Given the description of an element on the screen output the (x, y) to click on. 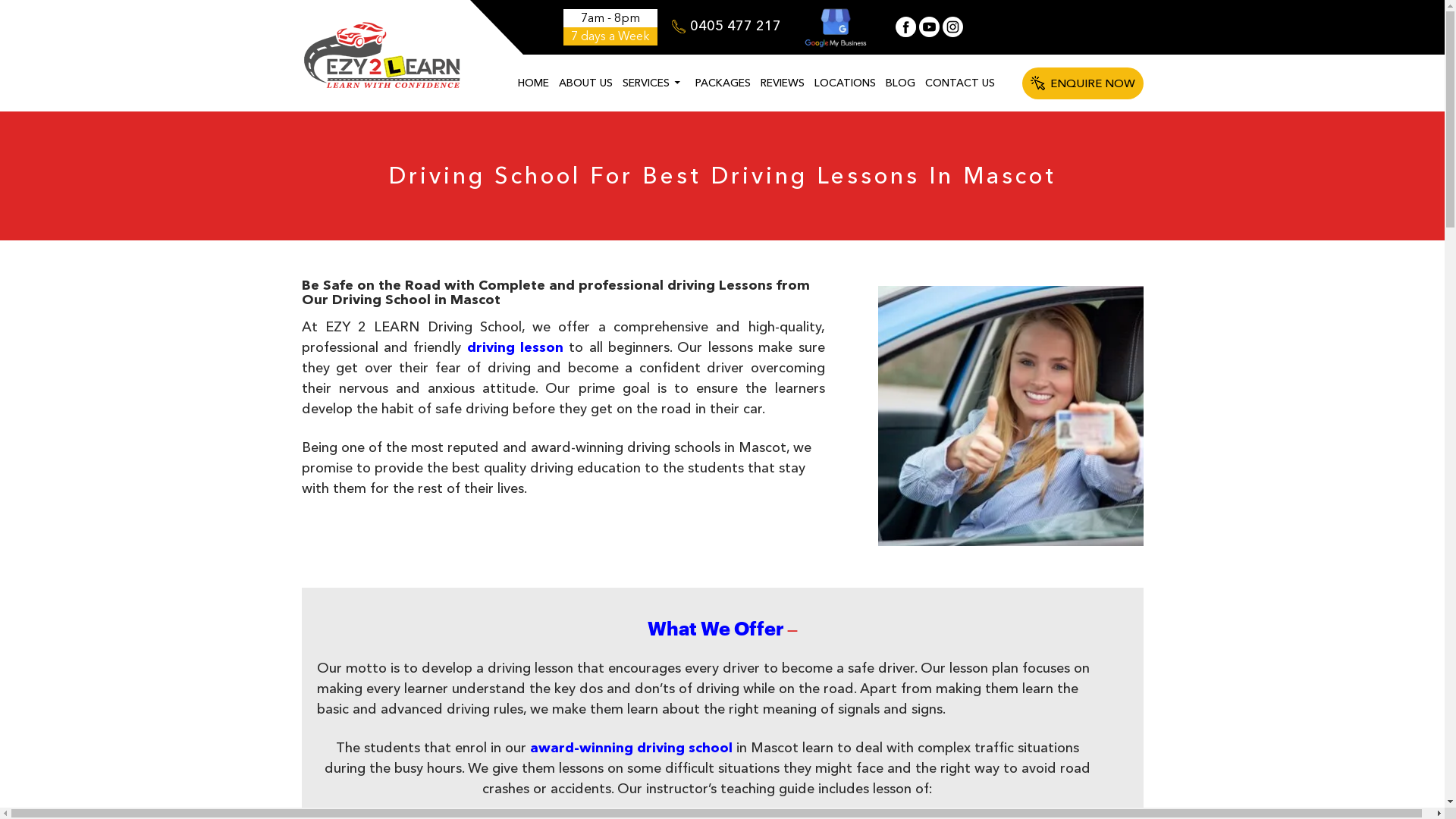
ABOUT US Element type: text (585, 82)
ENQUIRE NOW Element type: text (1082, 83)
0405 477 217 Element type: text (725, 25)
What We Offer Element type: text (715, 629)
REVIEWS Element type: text (782, 82)
Google my business Element type: hover (835, 27)
HOME Element type: text (533, 82)
CONTACT US Element type: text (958, 82)
driving lesson Element type: text (515, 347)
SERVICES Element type: text (653, 82)
award-winning driving school Element type: text (630, 747)
SKIP TO CONTENT Element type: text (516, 53)
BLOG Element type: text (899, 82)
PACKAGES Element type: text (722, 82)
LOCATIONS Element type: text (843, 82)
